Given the description of an element on the screen output the (x, y) to click on. 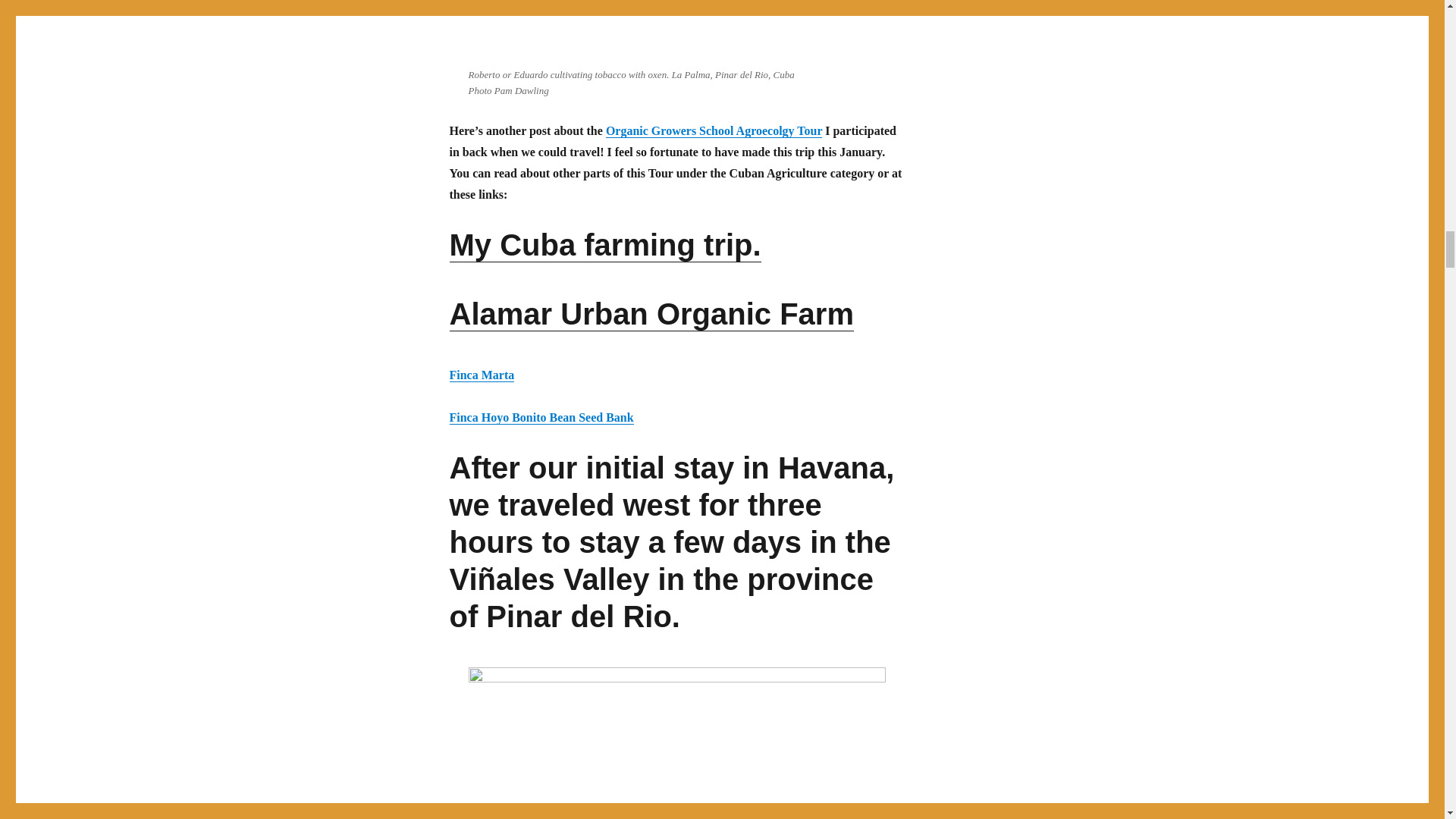
Organic Growers School Agroecolgy Tour (713, 130)
Finca Marta (480, 374)
My Cuba farming trip. (604, 244)
Alamar Urban Organic Farm (650, 313)
Finca Hoyo Bonito Bean Seed Bank (540, 417)
